Given the description of an element on the screen output the (x, y) to click on. 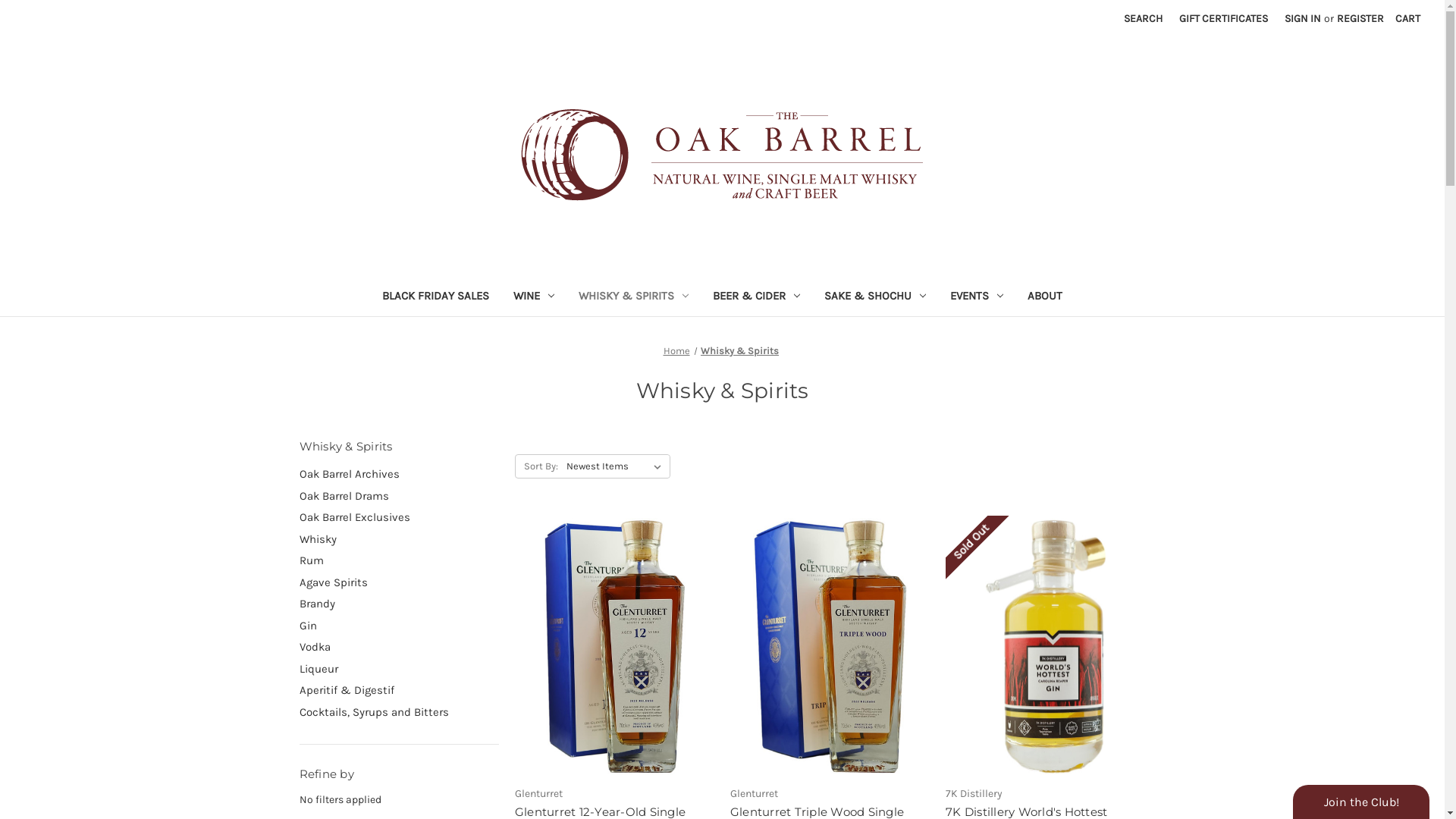
Liqueur Element type: text (398, 669)
The Oak Barrel Element type: hover (721, 155)
Oak Barrel Drams Element type: text (398, 496)
CART Element type: text (1407, 18)
Vodka Element type: text (398, 647)
Aperitif & Digestif Element type: text (398, 690)
Whisky & Spirits Element type: text (739, 350)
Brandy Element type: text (398, 604)
Home Element type: text (675, 350)
Glenturret Triple Wood Single Malt Scotch Whisky Element type: hover (829, 646)
Oak Barrel Exclusives Element type: text (398, 517)
REGISTER Element type: text (1360, 18)
Cocktails, Syrups and Bitters Element type: text (398, 712)
Whisky Element type: text (398, 539)
Oak Barrel Archives Element type: text (398, 474)
WHISKY & SPIRITS Element type: text (633, 297)
Agave Spirits Element type: text (398, 582)
SIGN IN Element type: text (1302, 18)
EVENTS Element type: text (976, 297)
ABOUT Element type: text (1044, 297)
Rum Element type: text (398, 560)
Gin Element type: text (398, 626)
GIFT CERTIFICATES Element type: text (1223, 18)
7K Distillery World's Hottest Carolina Reaper Gin Element type: hover (1044, 646)
BLACK FRIDAY SALES Element type: text (435, 297)
SAKE & SHOCHU Element type: text (875, 297)
WINE Element type: text (533, 297)
SEARCH Element type: text (1142, 18)
BEER & CIDER Element type: text (756, 297)
Glenturret 12-Year-Old Single Malt Scotch Whisky Element type: hover (614, 646)
